Given the description of an element on the screen output the (x, y) to click on. 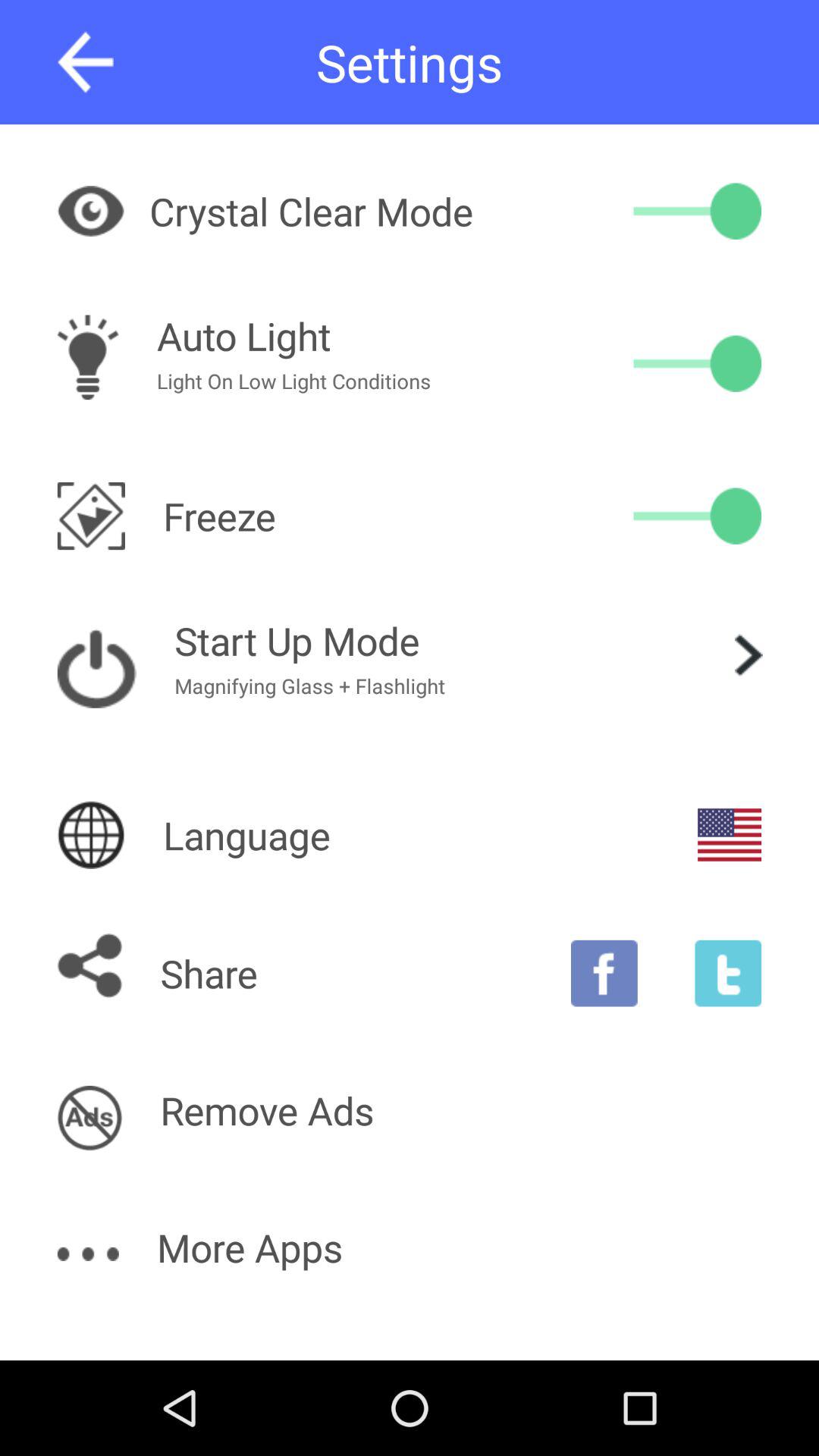
switch orientation (697, 515)
